Given the description of an element on the screen output the (x, y) to click on. 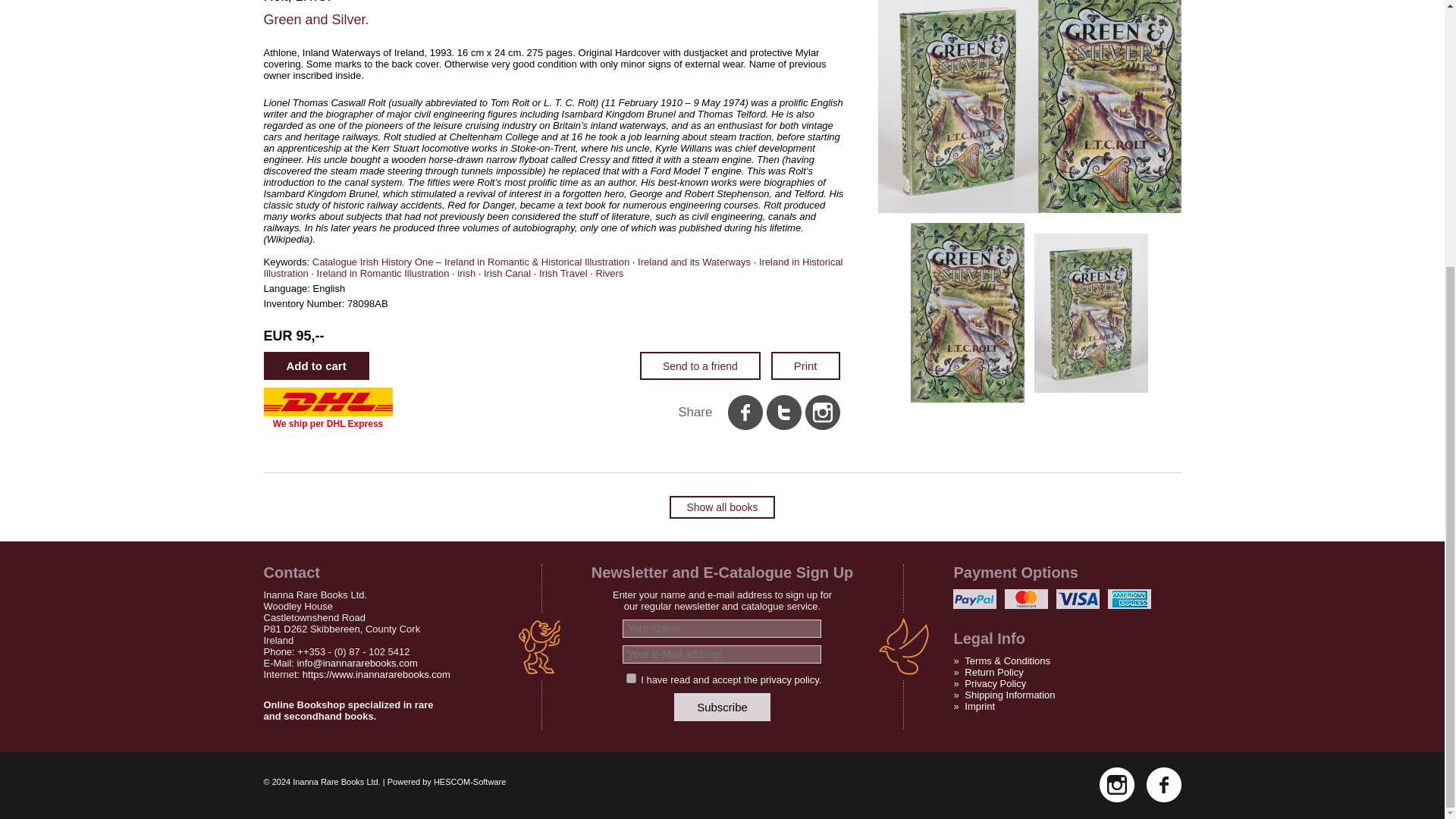
Rolt, Green and Silver. (967, 311)
We accept VISA (1078, 598)
Rolt, Green and Silver. (1028, 209)
Print (805, 366)
Rolt, Green and Silver. (1090, 311)
Subscribe (722, 706)
We accept American Express (1129, 598)
We accept Master Card (1026, 598)
Add to cart (316, 366)
We accept Paypal (974, 598)
1 (631, 678)
